Given the description of an element on the screen output the (x, y) to click on. 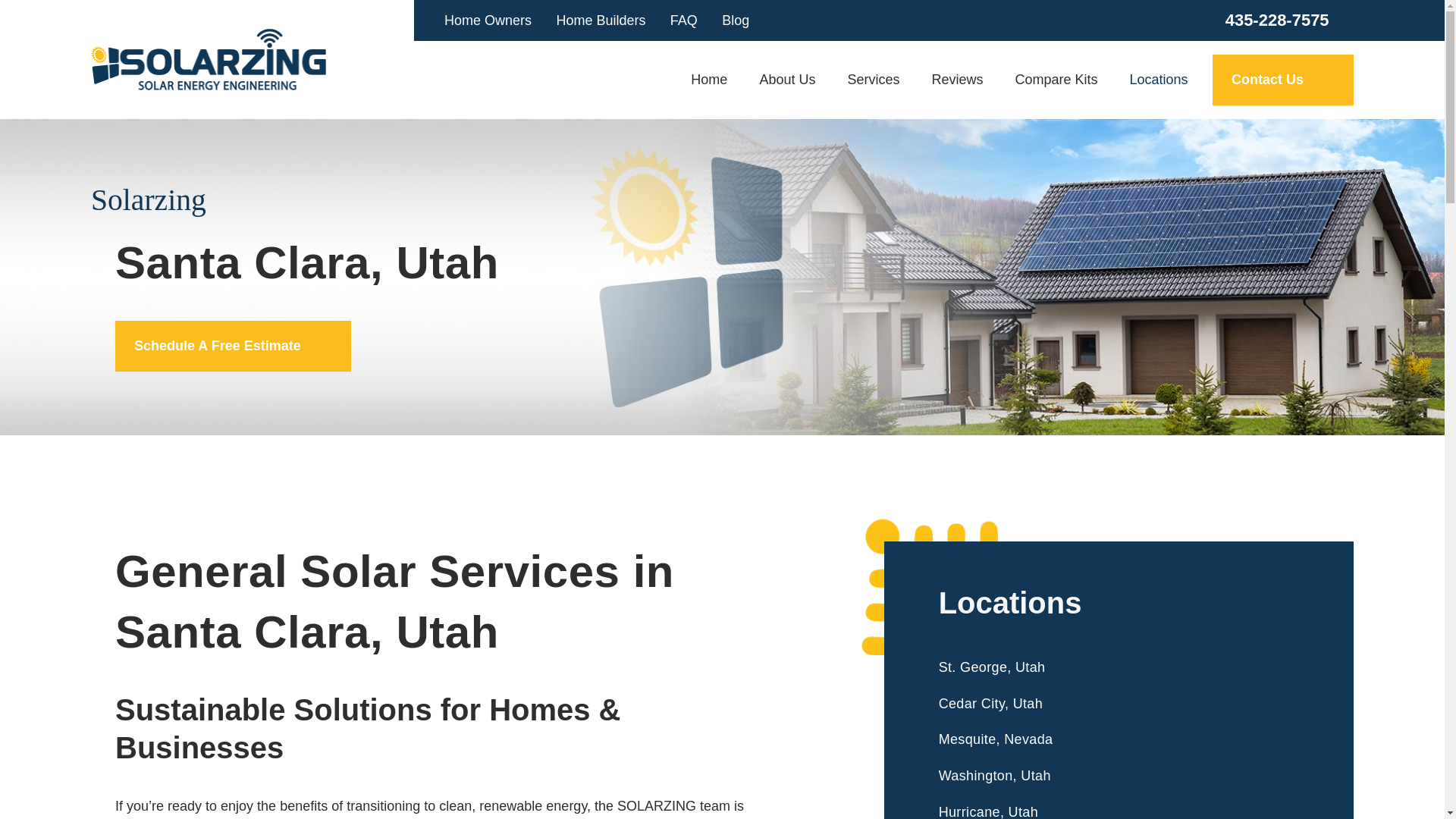
Solarzing (208, 58)
Services (873, 79)
FAQ (683, 20)
Home Builders (600, 20)
Contact Us (1283, 80)
Home (716, 79)
Locations (1150, 79)
Open the accessibility options menu (31, 786)
Reviews (956, 79)
Blog (735, 20)
